Given the description of an element on the screen output the (x, y) to click on. 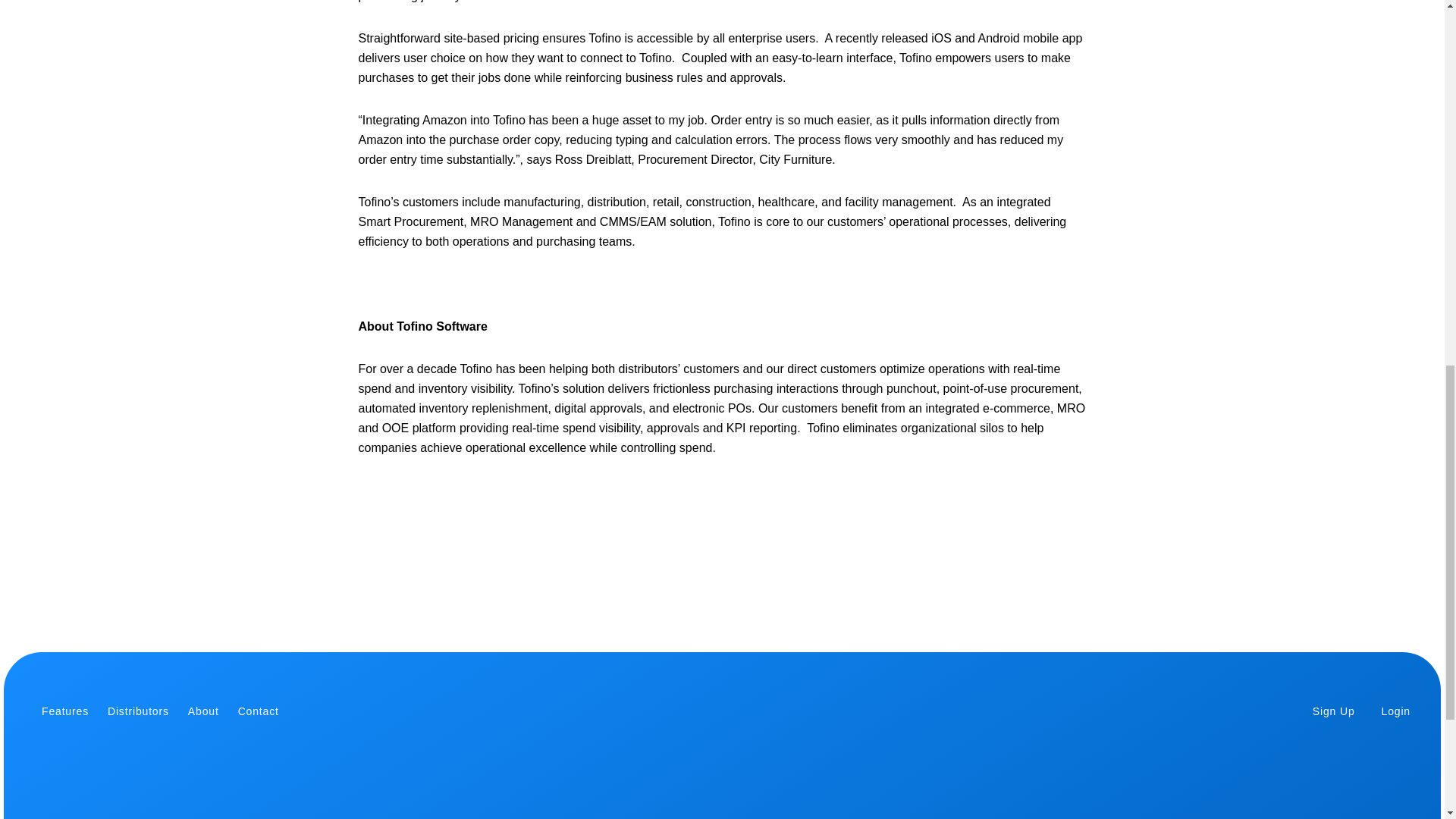
Features (65, 711)
Contact (258, 711)
Distributors (137, 711)
Login (1395, 711)
About (203, 711)
mobile app (1052, 38)
Sign Up (1334, 711)
